Given the description of an element on the screen output the (x, y) to click on. 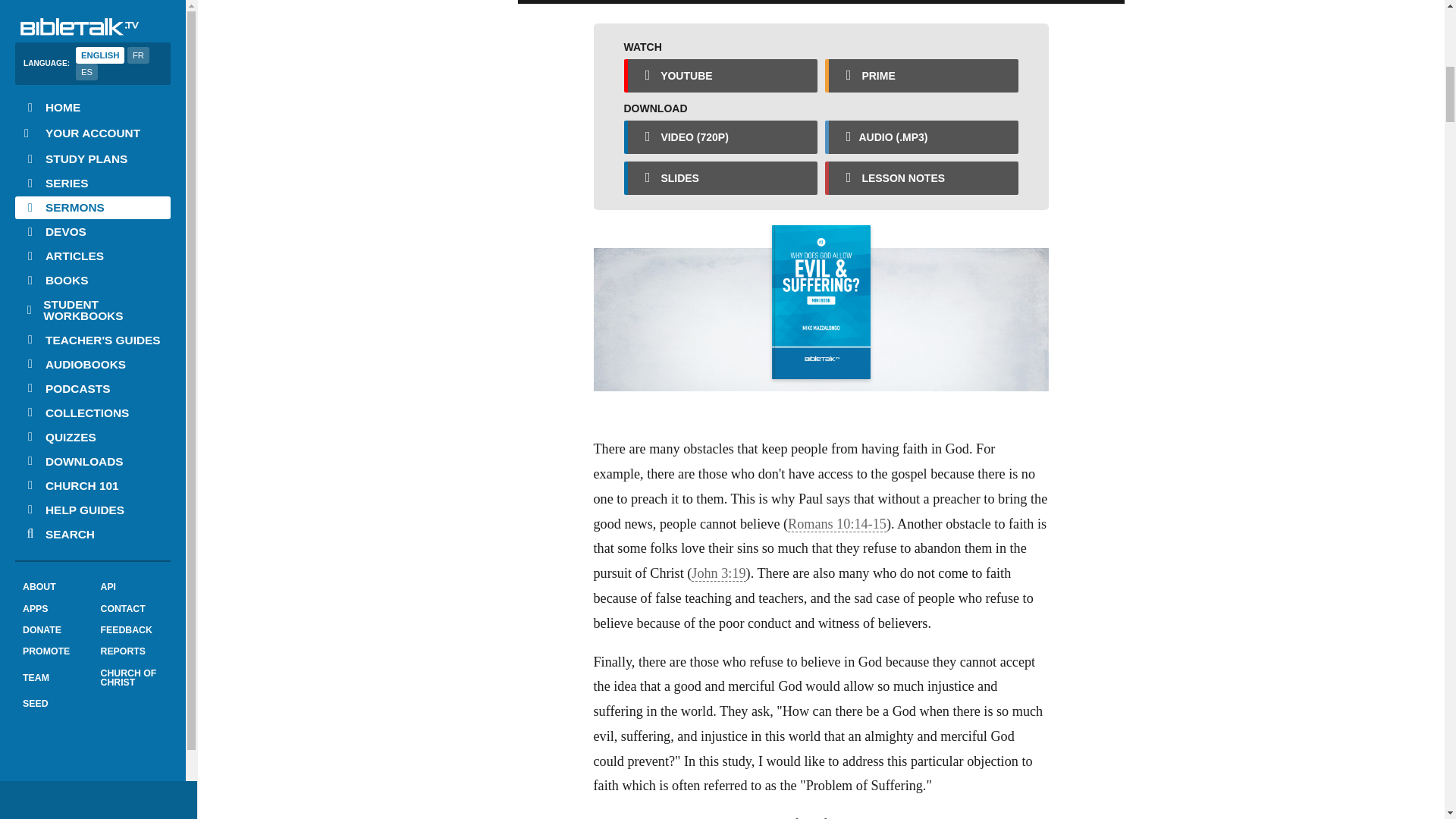
Available on Amazon Prime (921, 75)
Download - Slides (719, 177)
Download - Lesson Notes (921, 177)
Download - .mp3 File (921, 136)
Download - Video (719, 136)
Available on YouTube (719, 75)
